Given the description of an element on the screen output the (x, y) to click on. 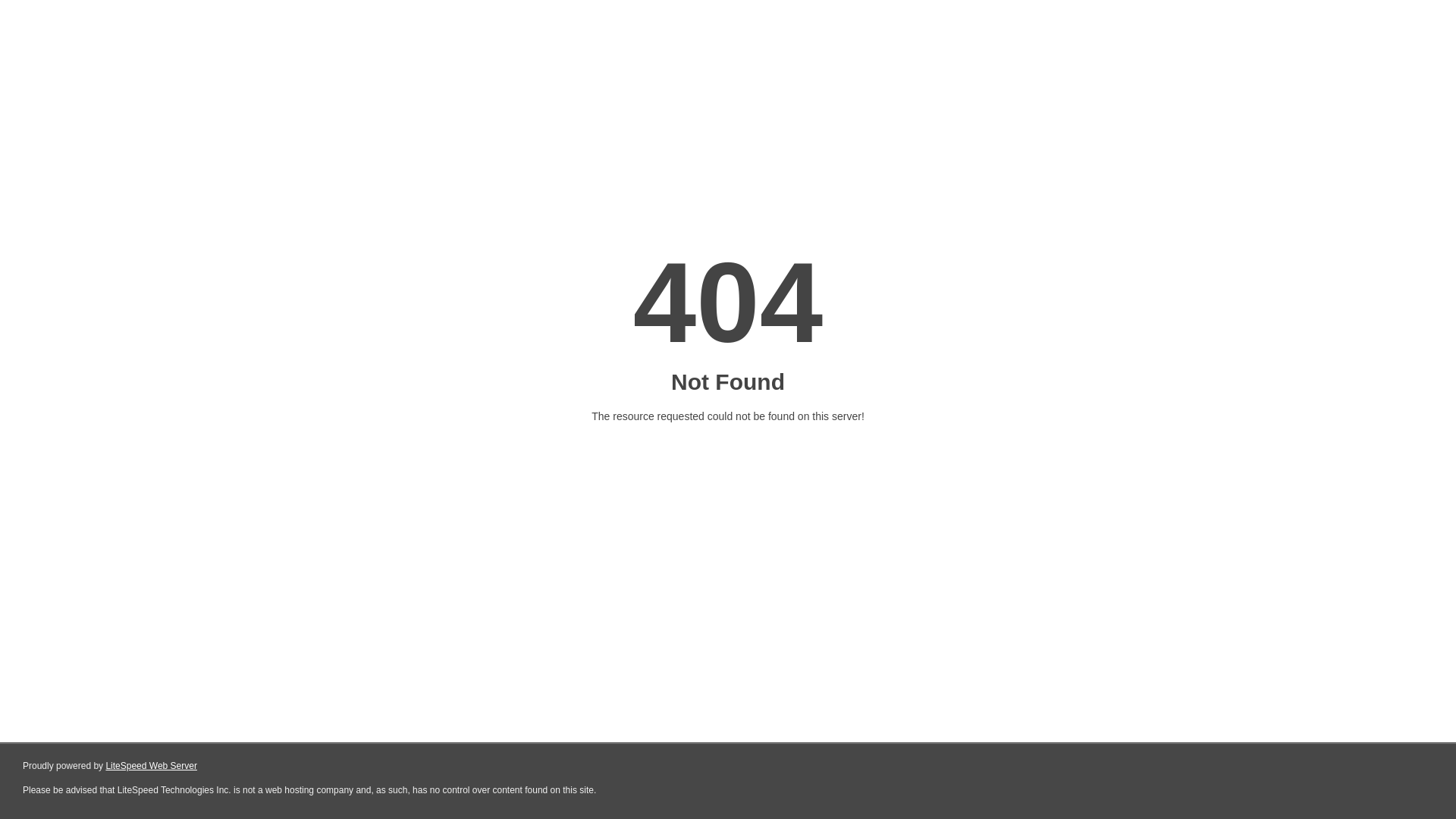
LiteSpeed Web Server Element type: text (151, 765)
